Given the description of an element on the screen output the (x, y) to click on. 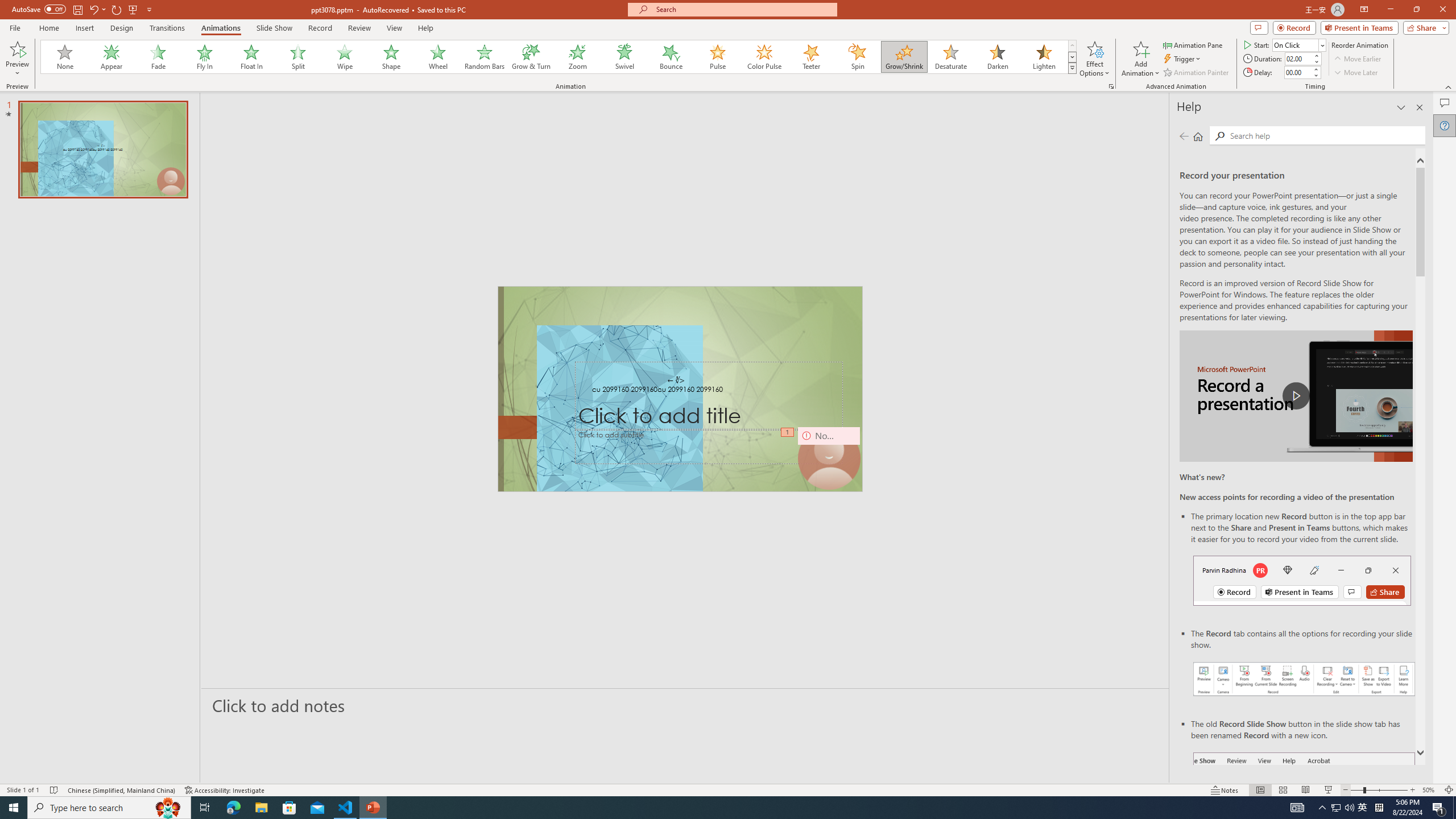
Desaturate (950, 56)
Add Animation (1141, 58)
AutomationID: AnimationGallery (558, 56)
Animation Duration (1298, 58)
Move Later (1355, 72)
Lighten (1043, 56)
Trigger (1182, 58)
